Given the description of an element on the screen output the (x, y) to click on. 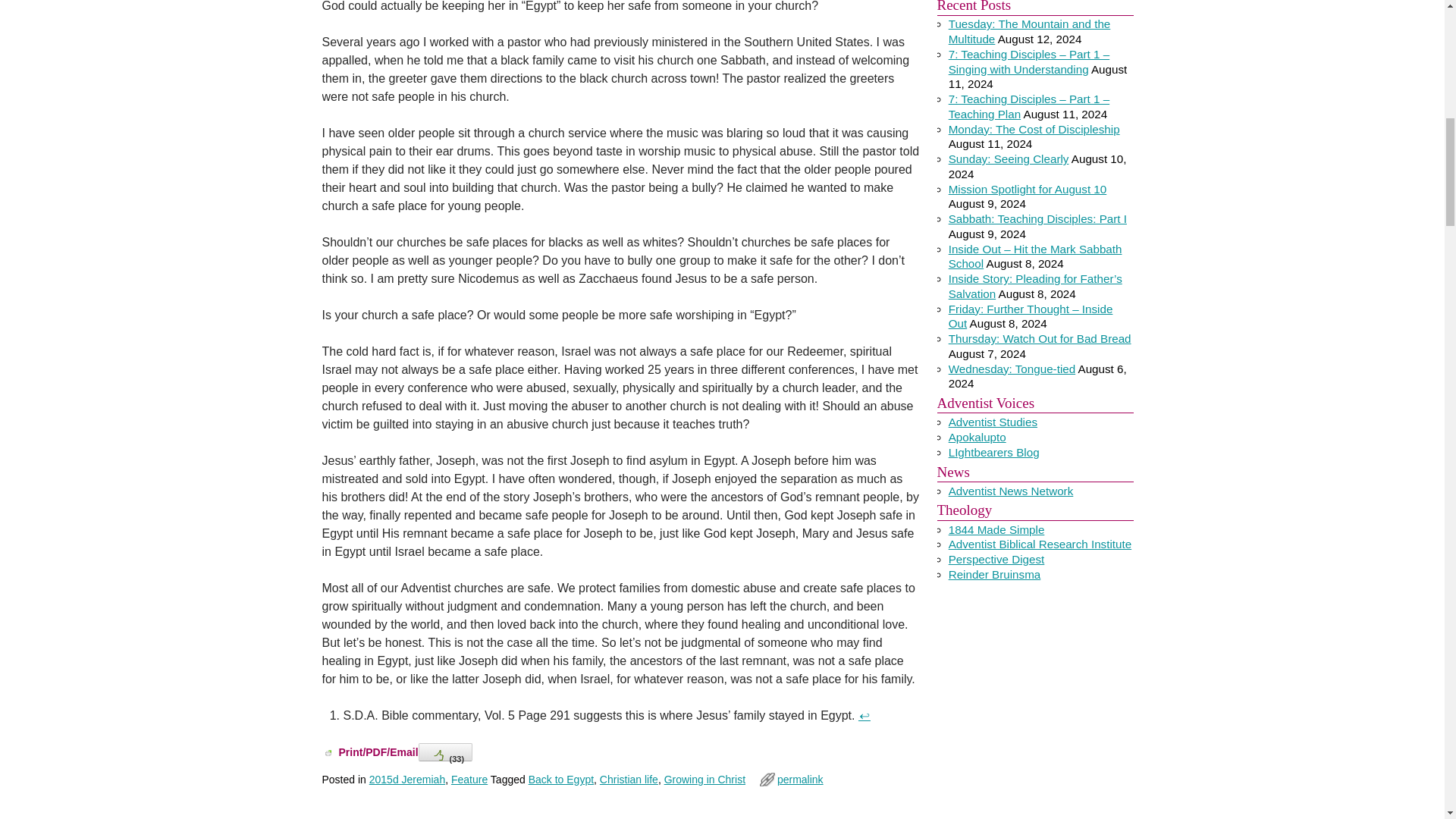
by Arthur Patrick of Avondale (992, 421)
 David Hamstra blog (977, 436)
Official Adventist News Network (1011, 490)
Publication of Adventist Theological Society (997, 558)
